Given the description of an element on the screen output the (x, y) to click on. 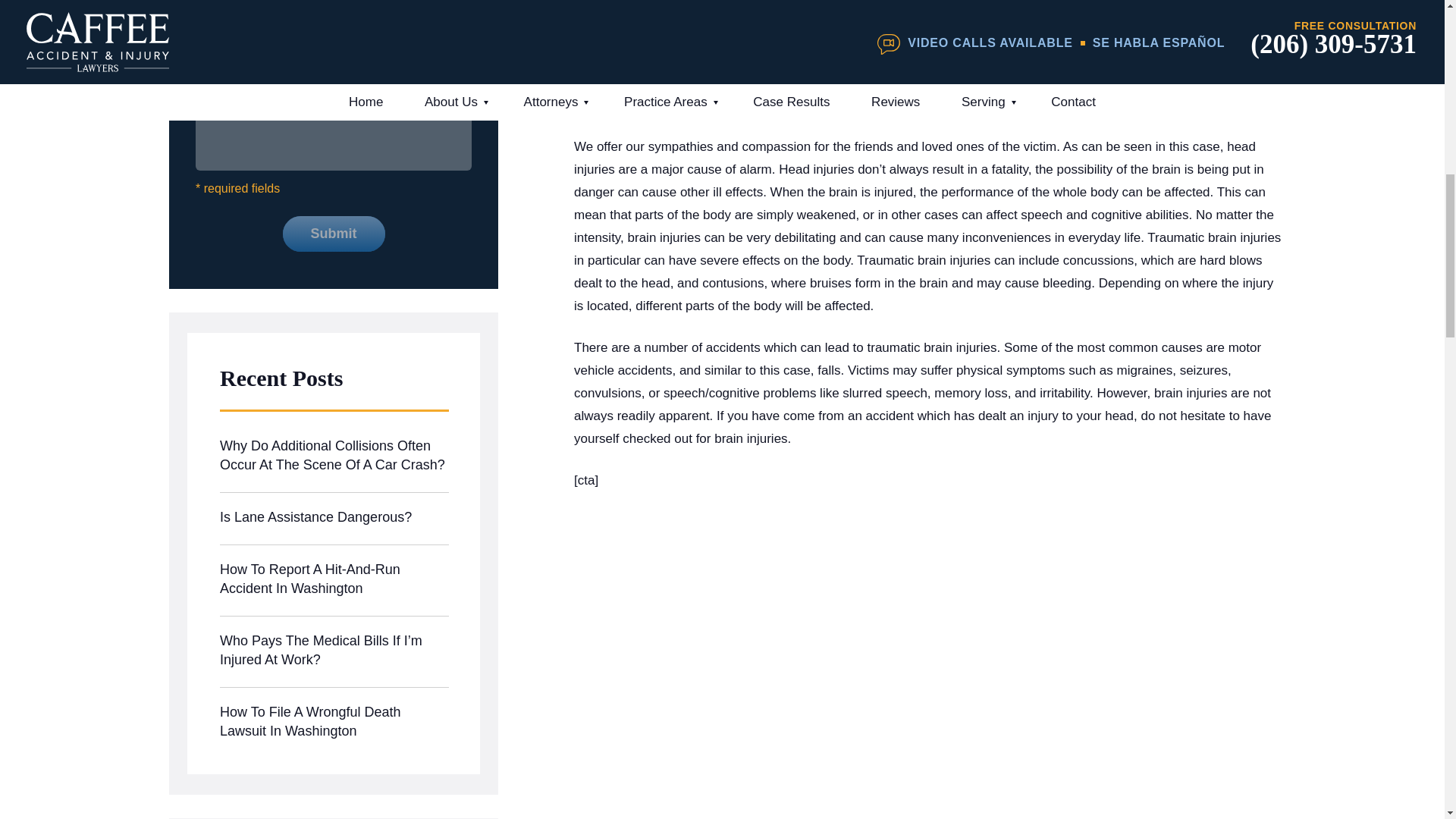
How To File A Wrongful Death Lawsuit In Washington (333, 722)
How To Report A Hit-And-Run Accident In Washington (333, 580)
Is Lane Assistance Dangerous? (333, 518)
Submit (333, 233)
